Given the description of an element on the screen output the (x, y) to click on. 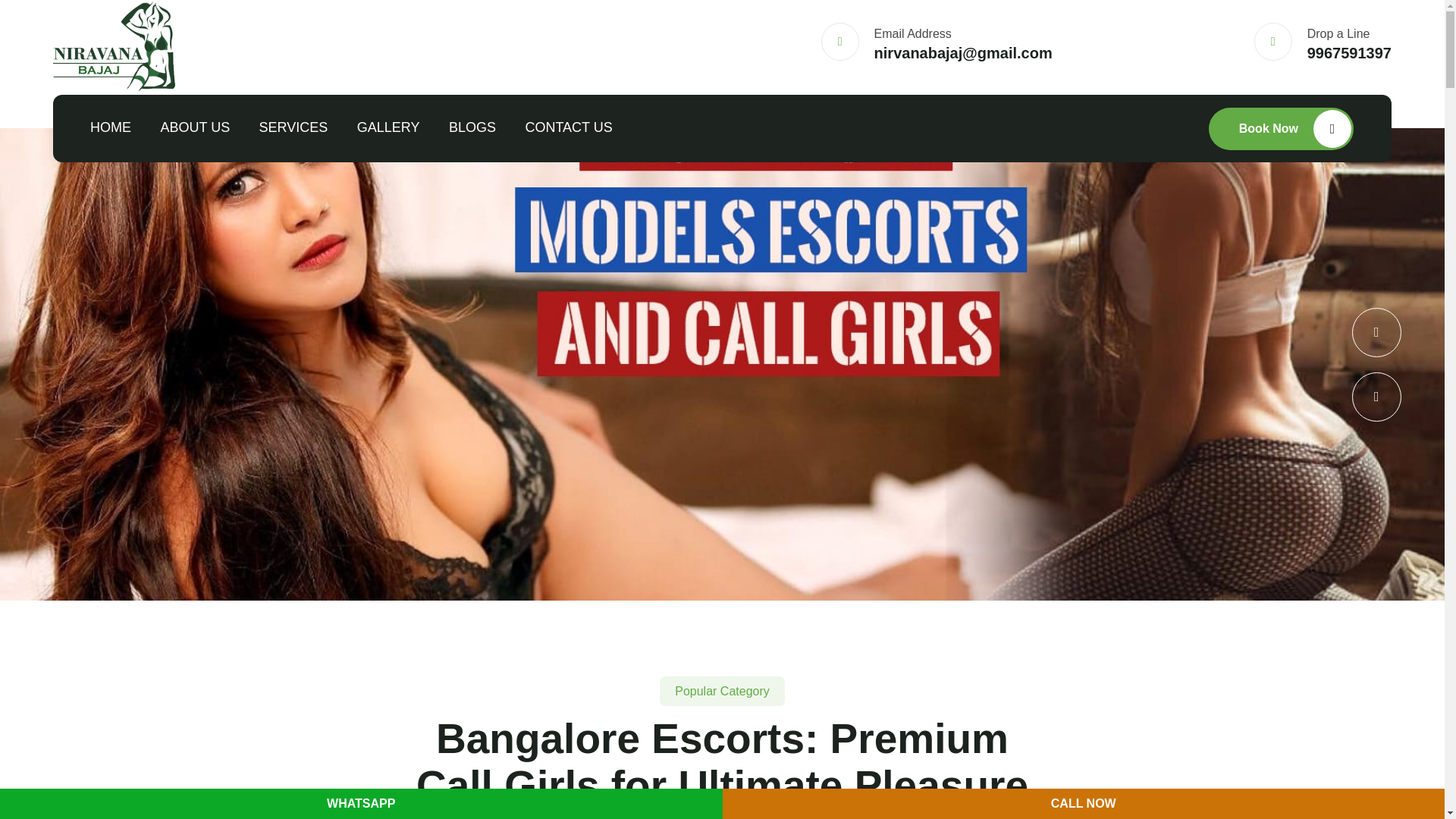
SERVICES (294, 128)
9967591397 (1349, 52)
Book Now (1281, 128)
CONTACT US (567, 128)
ABOUT US (195, 128)
Escort Service Bangalore (113, 45)
GALLERY (388, 128)
